Given the description of an element on the screen output the (x, y) to click on. 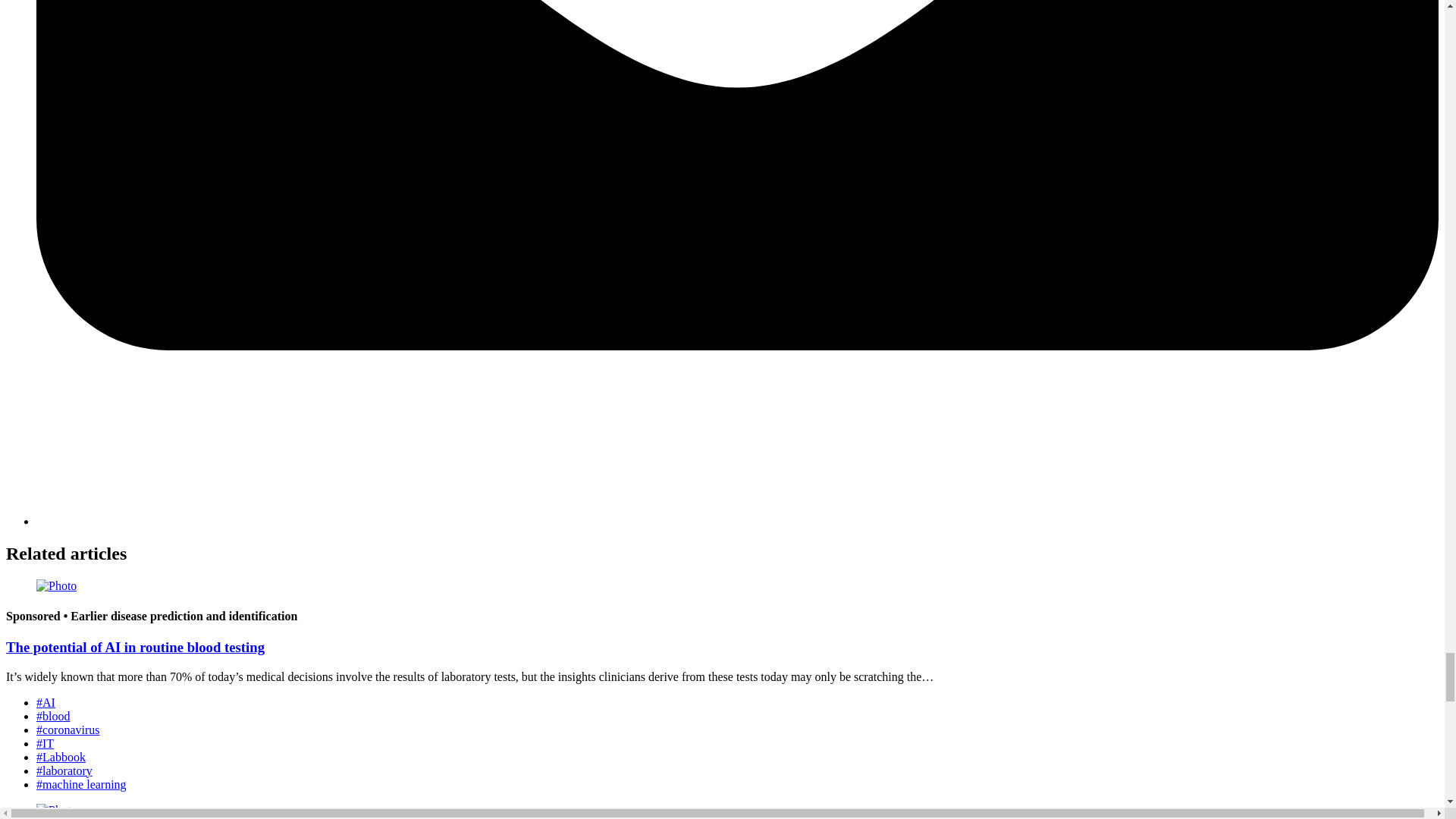
The potential of AI in routine blood testing (134, 647)
The potential of AI in routine blood testing (134, 647)
